Given the description of an element on the screen output the (x, y) to click on. 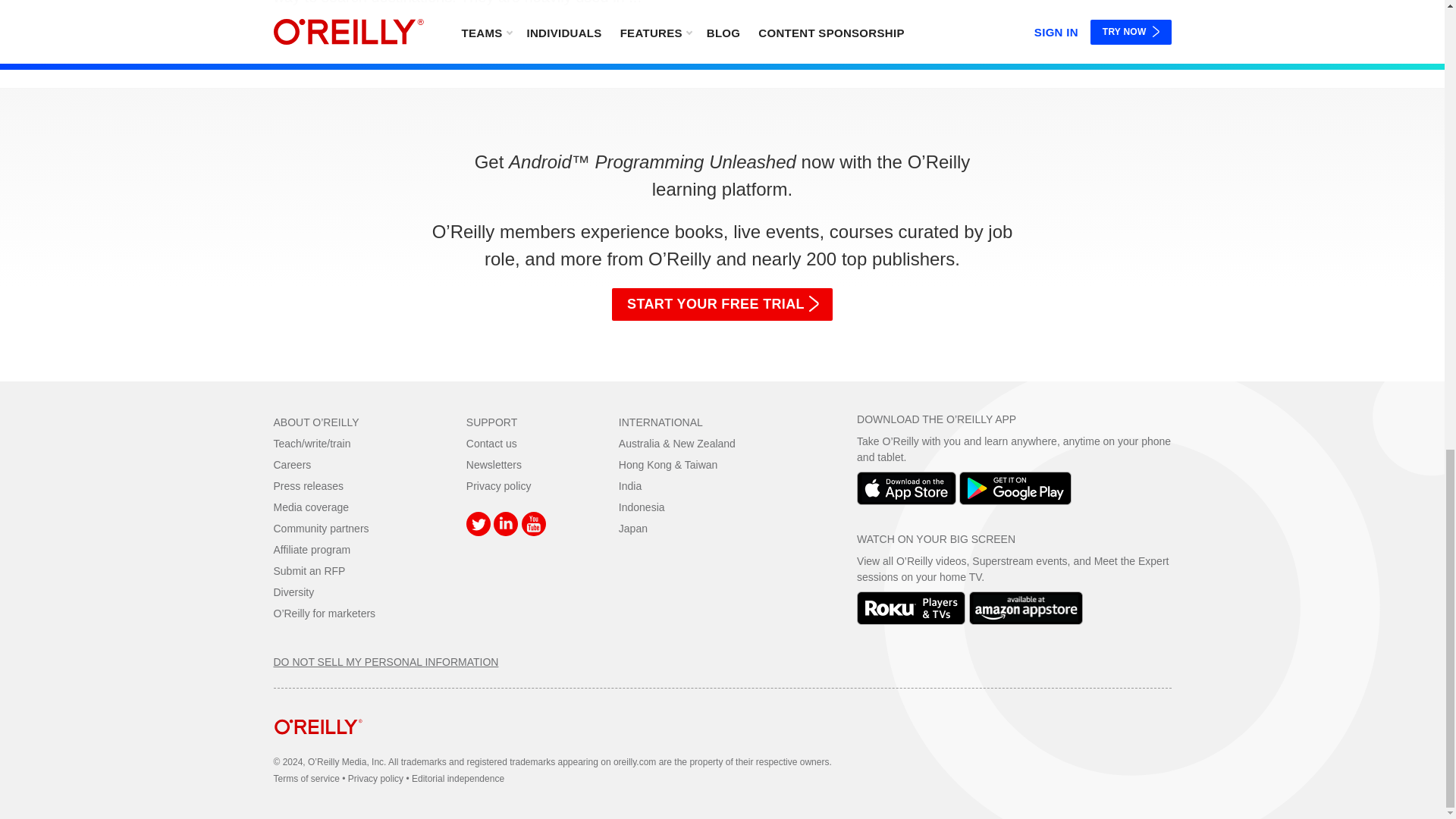
START YOUR FREE TRIAL (721, 304)
home page (317, 745)
Careers (292, 464)
Affiliate program (311, 549)
Media coverage (311, 507)
Community partners (320, 528)
Press releases (308, 485)
